Given the description of an element on the screen output the (x, y) to click on. 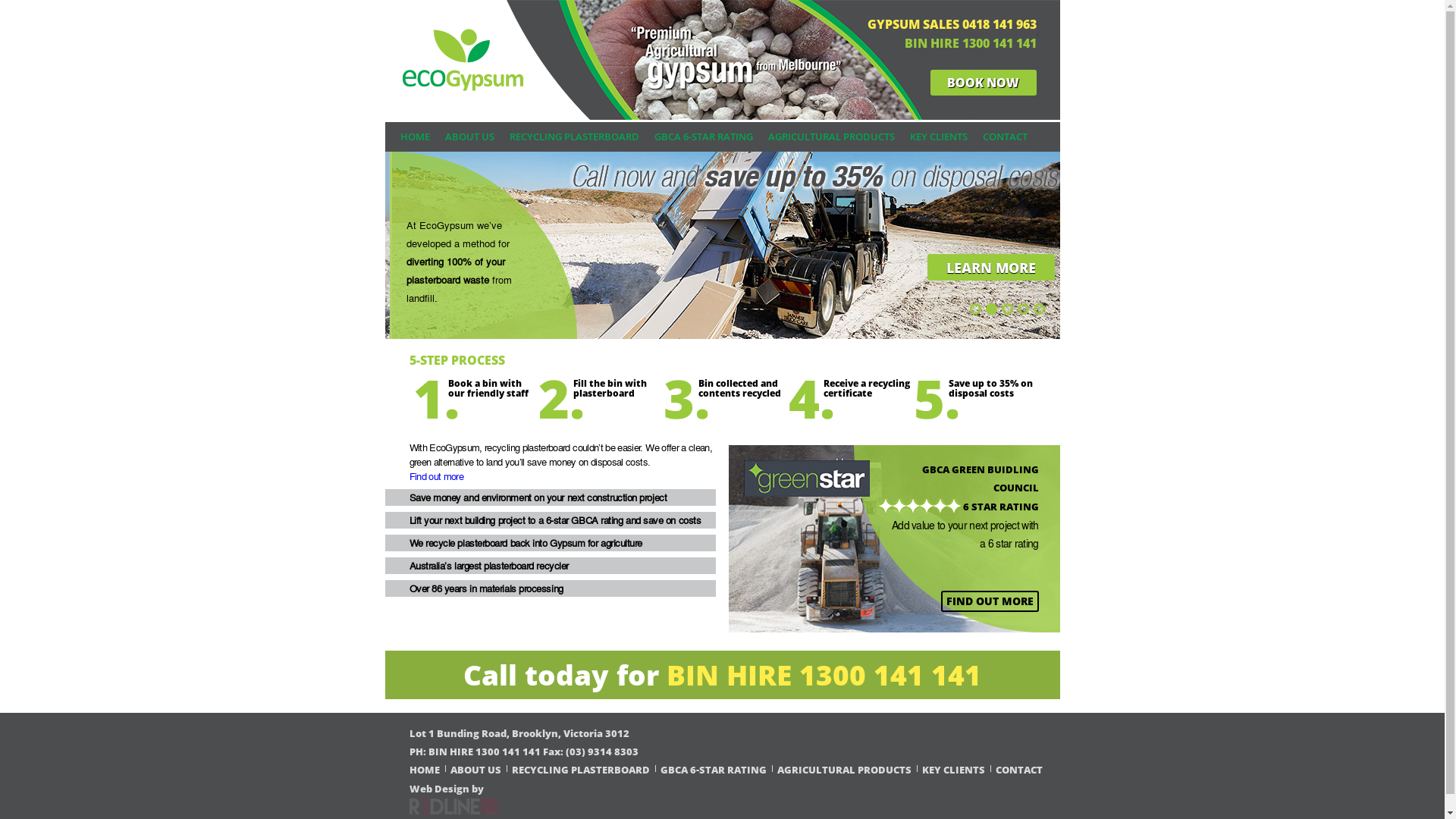
AGRICULTURAL PRODUCTS Element type: text (830, 136)
3 Element type: text (1006, 308)
1 Element type: text (974, 308)
GBCA 6-STAR RATING Element type: text (702, 136)
GYPSUM SALES 0418 141 963 Element type: text (940, 21)
Find out more Element type: text (436, 475)
HOME Element type: text (424, 769)
BIN HIRE 1300 141 141 Element type: text (484, 751)
ABOUT US Element type: text (468, 136)
LEARN MORE Element type: text (1046, 267)
2 Element type: text (991, 308)
FIND OUT MORE Element type: text (989, 600)
BIN HIRE 1300 141 141 Element type: text (960, 42)
RECYCLING PLASTERBOARD Element type: text (580, 769)
HOME Element type: text (414, 136)
4 Element type: text (1023, 308)
CONTACT Element type: text (1017, 769)
BOOK NOW Element type: text (983, 82)
KEY CLIENTS Element type: text (953, 769)
ABOUT US Element type: text (475, 769)
AGRICULTURAL PRODUCTS Element type: text (843, 769)
CONTACT Element type: text (1004, 136)
RECYCLING PLASTERBOARD Element type: text (574, 136)
KEY CLIENTS Element type: text (938, 136)
GBCA 6-STAR RATING Element type: text (712, 769)
5 Element type: text (1038, 308)
BIN HIRE 1300 141 141 Element type: text (823, 674)
LEARN MORE Element type: text (377, 267)
